Given the description of an element on the screen output the (x, y) to click on. 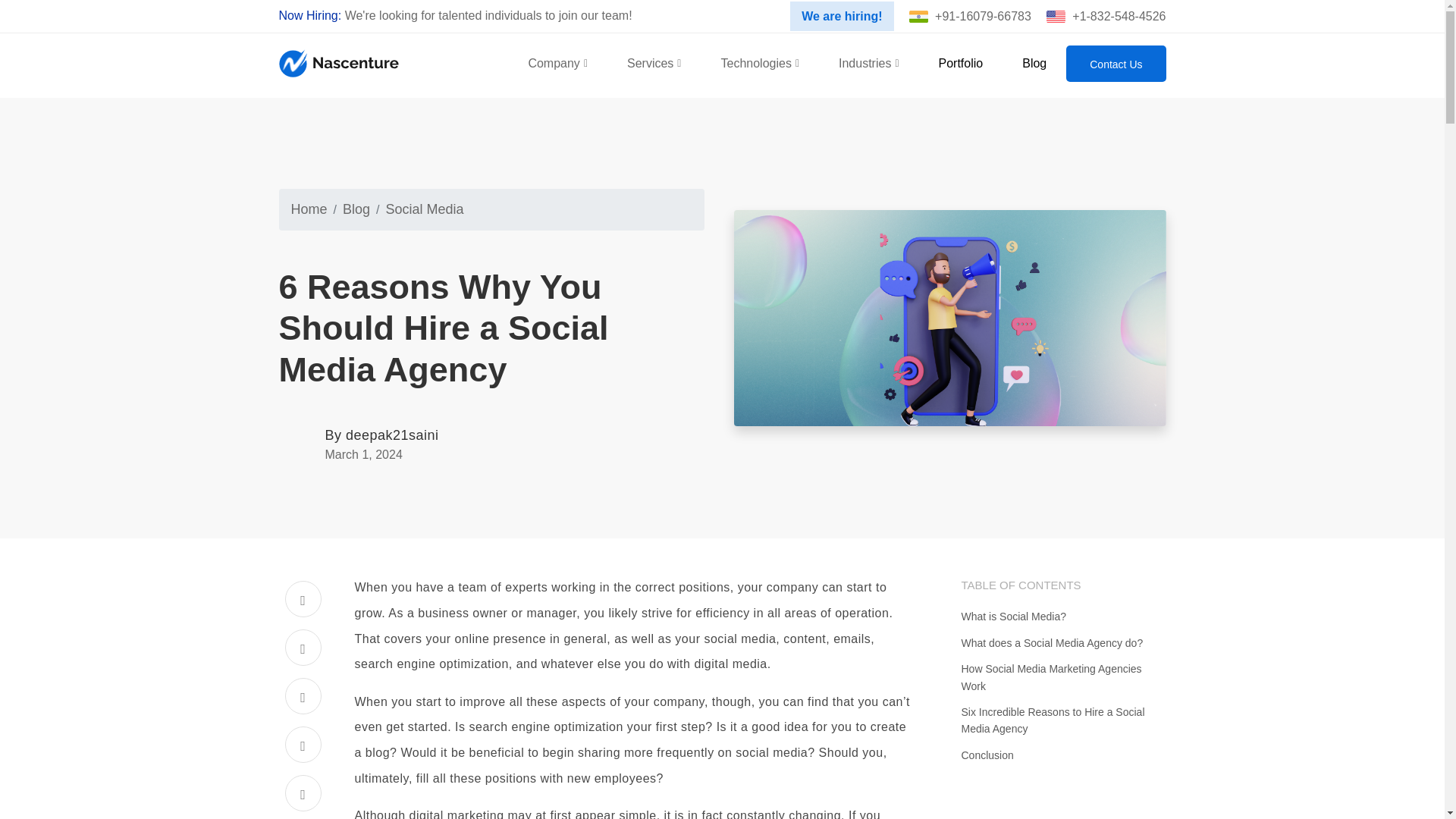
Technologies (759, 64)
What is Social Media? (1063, 616)
Copy (302, 794)
We are hiring! (841, 15)
Services (654, 64)
What does a Social Media Agency do? (1063, 642)
Six Incredible Reasons to Hire a Social Media Agency (1063, 720)
Company (557, 64)
How Social Media Marketing Agencies Work (1063, 677)
Conclusion (1063, 754)
Now Hiring: (310, 15)
